Given the description of an element on the screen output the (x, y) to click on. 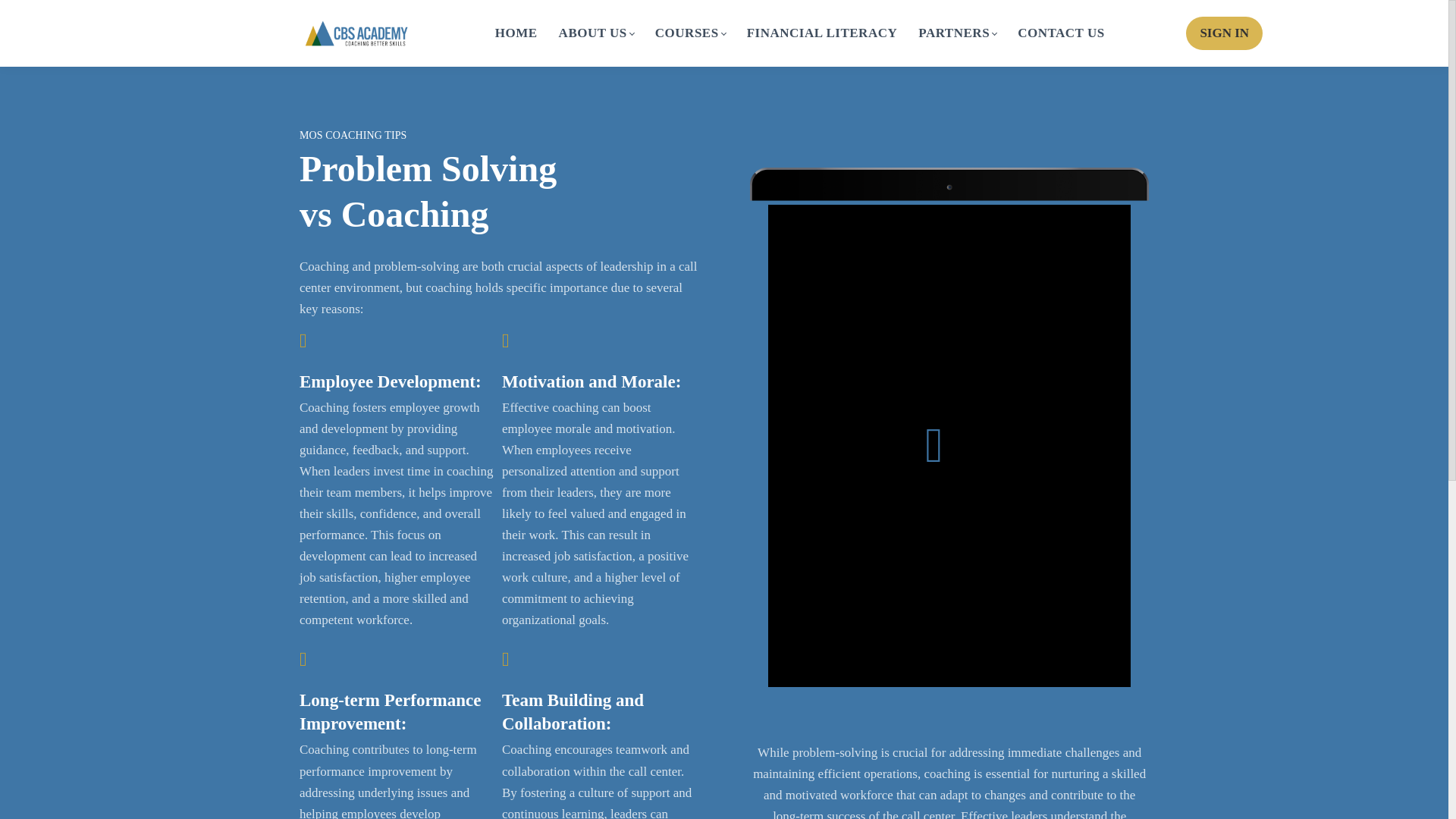
SIGN IN (1224, 32)
HOME (516, 33)
ABOUT US (596, 33)
CONTACT US (1061, 33)
FINANCIAL LITERACY (822, 33)
